Given the description of an element on the screen output the (x, y) to click on. 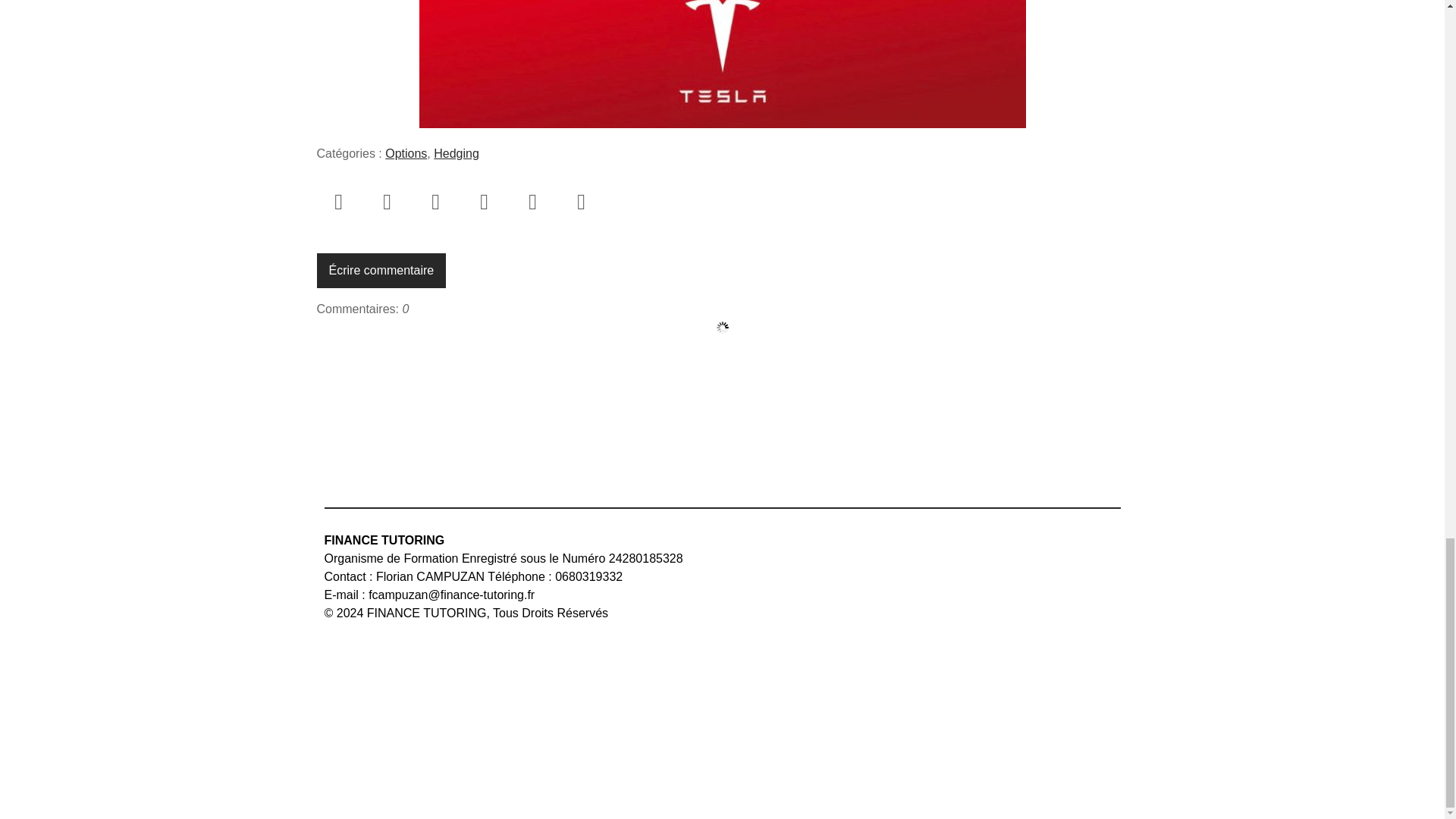
Tumblr (532, 201)
LinkedIn (484, 201)
Facebook (339, 201)
Reddit (581, 201)
Twitter (387, 201)
E-mail (435, 201)
